Given the description of an element on the screen output the (x, y) to click on. 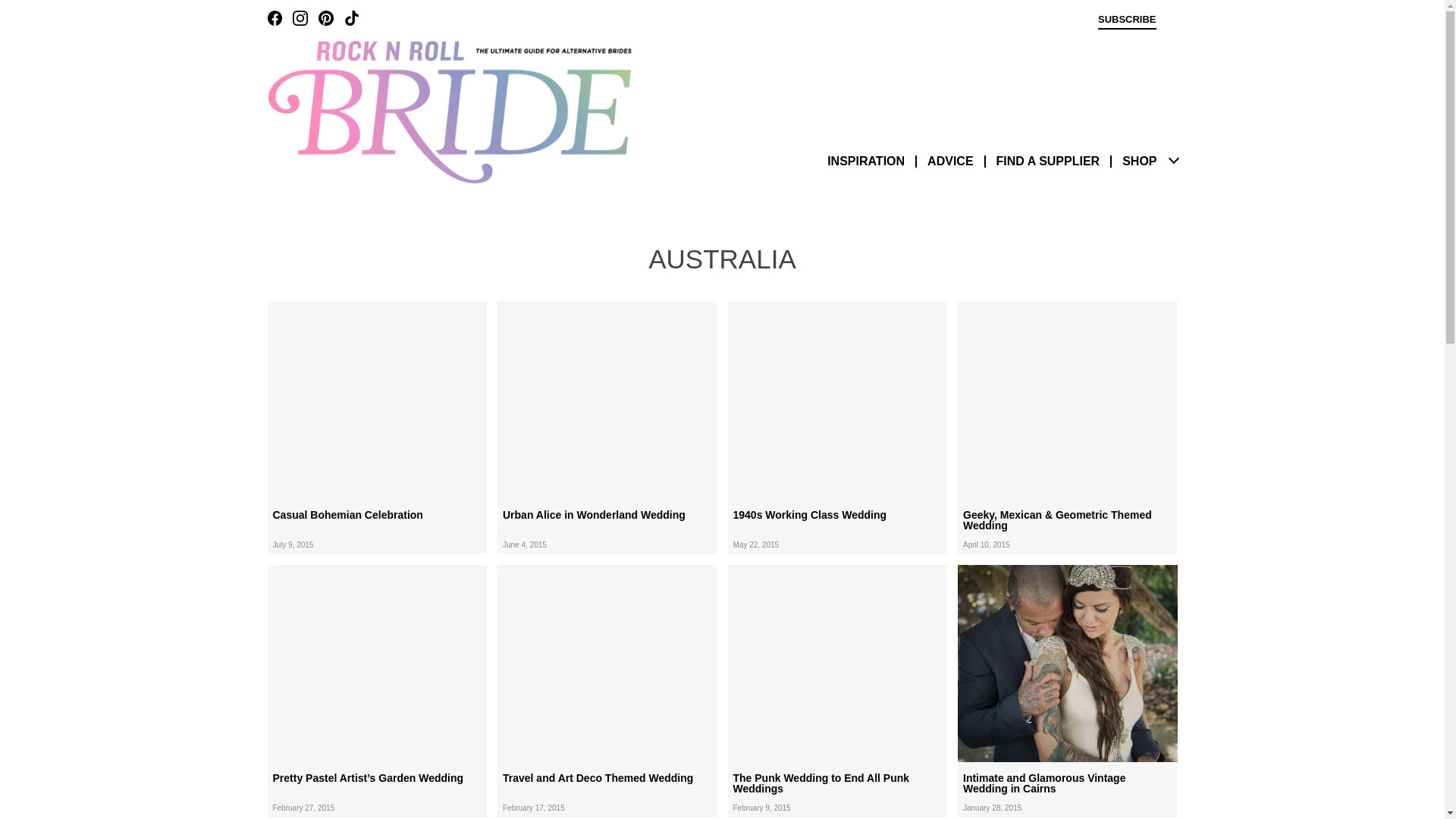
Subscribe (1126, 21)
INSPIRATION (865, 160)
SHOP (1139, 160)
ADVICE (949, 160)
Rock n Roll Bride (448, 111)
SUBSCRIBE (1126, 21)
FIND A SUPPLIER (1047, 160)
